Given the description of an element on the screen output the (x, y) to click on. 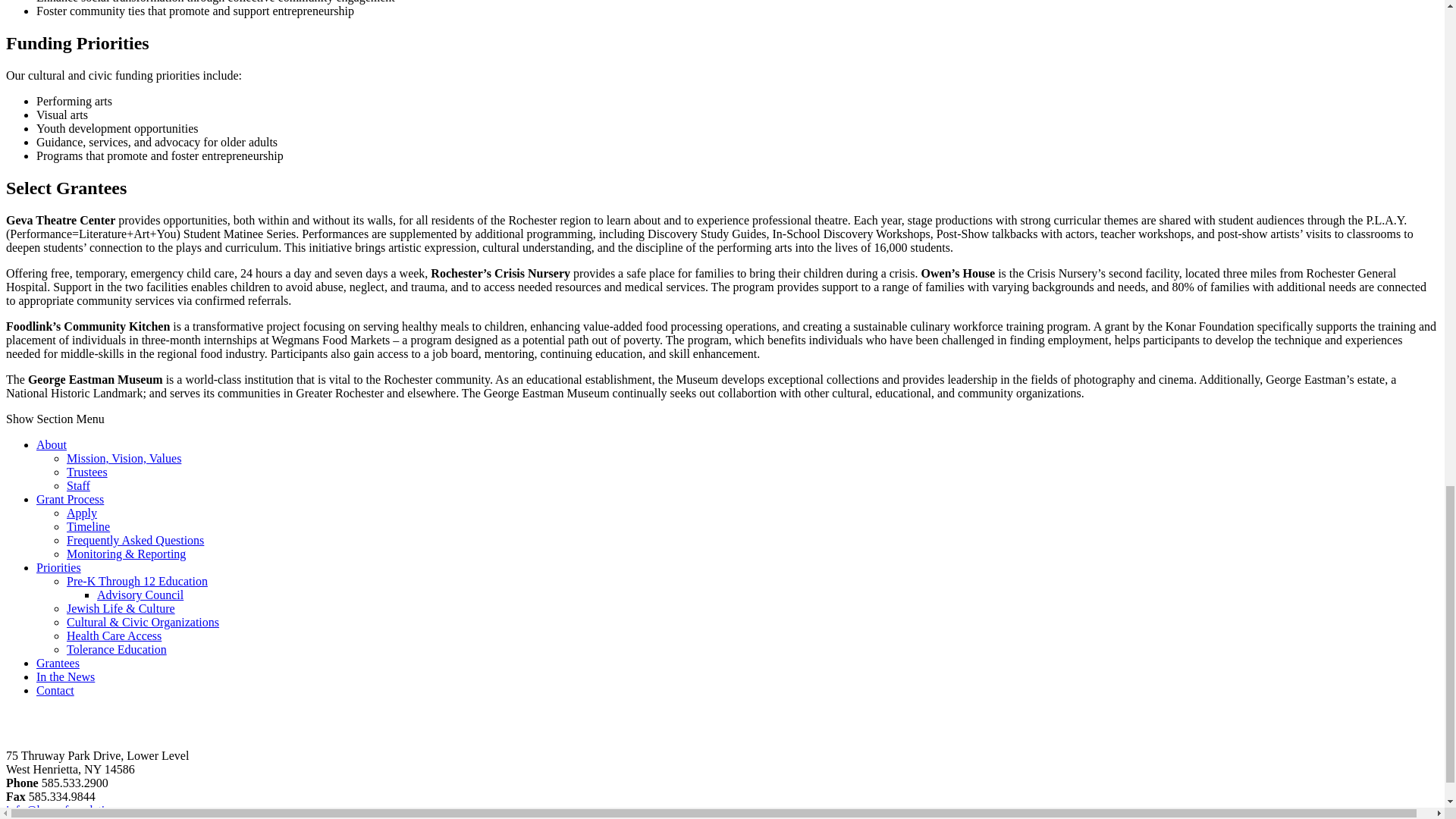
In the News (65, 676)
Timeline (88, 526)
Staff (78, 485)
Trustees (86, 472)
Advisory Council (140, 594)
About (51, 444)
Contact (55, 689)
Apply (81, 512)
Mission, Vision, Values (123, 458)
Tolerance Education (116, 649)
Priorities (58, 567)
Grant Process (69, 499)
Pre-K Through 12 Education (137, 581)
Frequently Asked Questions (134, 540)
Grantees (58, 662)
